Given the description of an element on the screen output the (x, y) to click on. 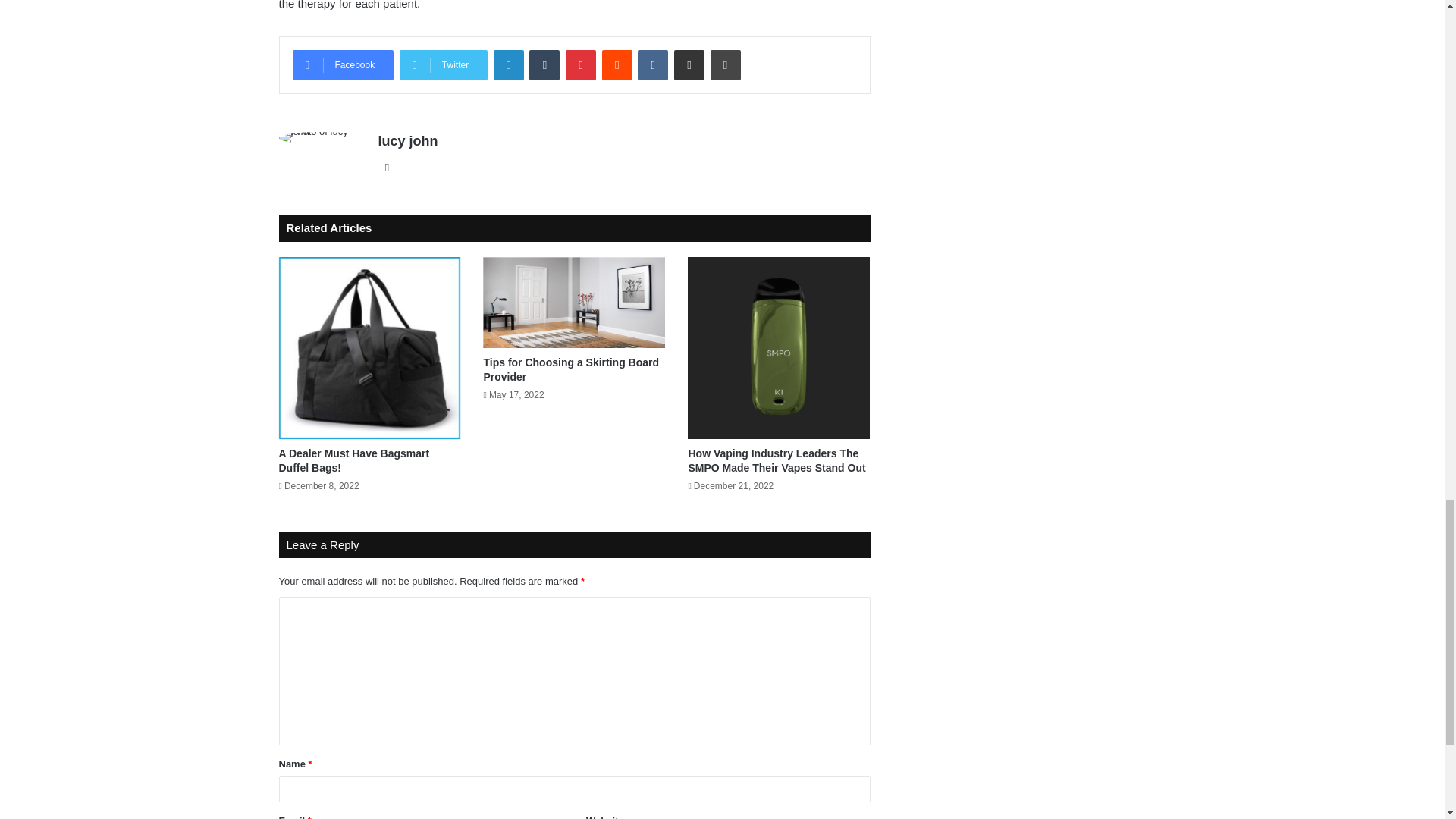
Tips for Choosing a Skirting Board Provider (571, 369)
Pinterest (580, 64)
Twitter (442, 64)
Print (725, 64)
Print (725, 64)
VKontakte (652, 64)
Tumblr (544, 64)
Reddit (616, 64)
Facebook (343, 64)
Pinterest (580, 64)
Facebook (343, 64)
VKontakte (652, 64)
Website (386, 167)
Share via Email (689, 64)
LinkedIn (508, 64)
